Given the description of an element on the screen output the (x, y) to click on. 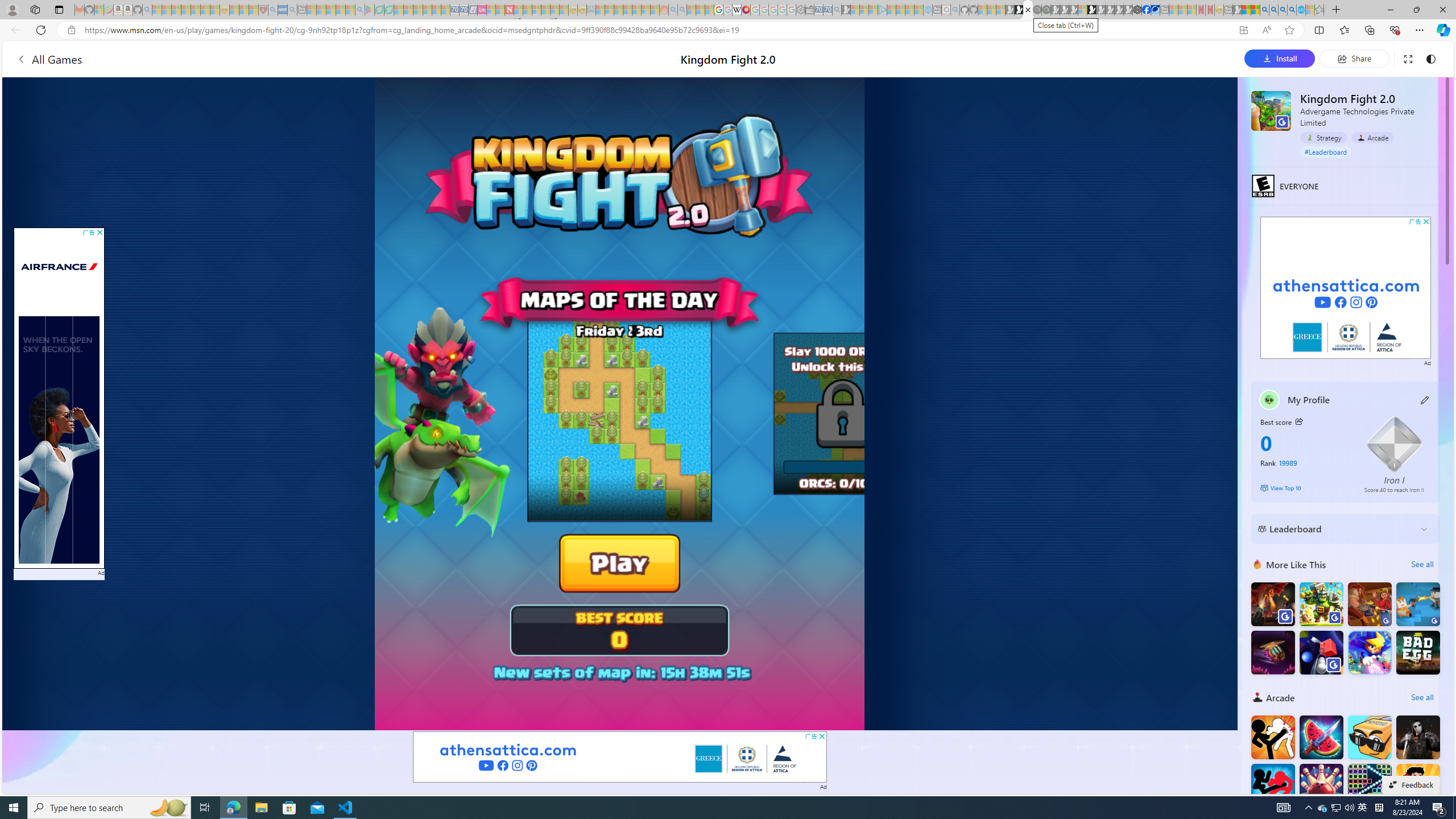
Class: button (1298, 421)
Bluey: Let's Play! - Apps on Google Play - Sleeping (369, 9)
See all (1422, 696)
Expert Portfolios - Sleeping (627, 9)
""'s avatar (1269, 399)
All Games (253, 58)
Castle Of Magic (1369, 652)
Leaderboard (1336, 529)
Shape Smash (1321, 652)
14 Common Myths Debunked By Scientific Facts - Sleeping (527, 9)
